Given the description of an element on the screen output the (x, y) to click on. 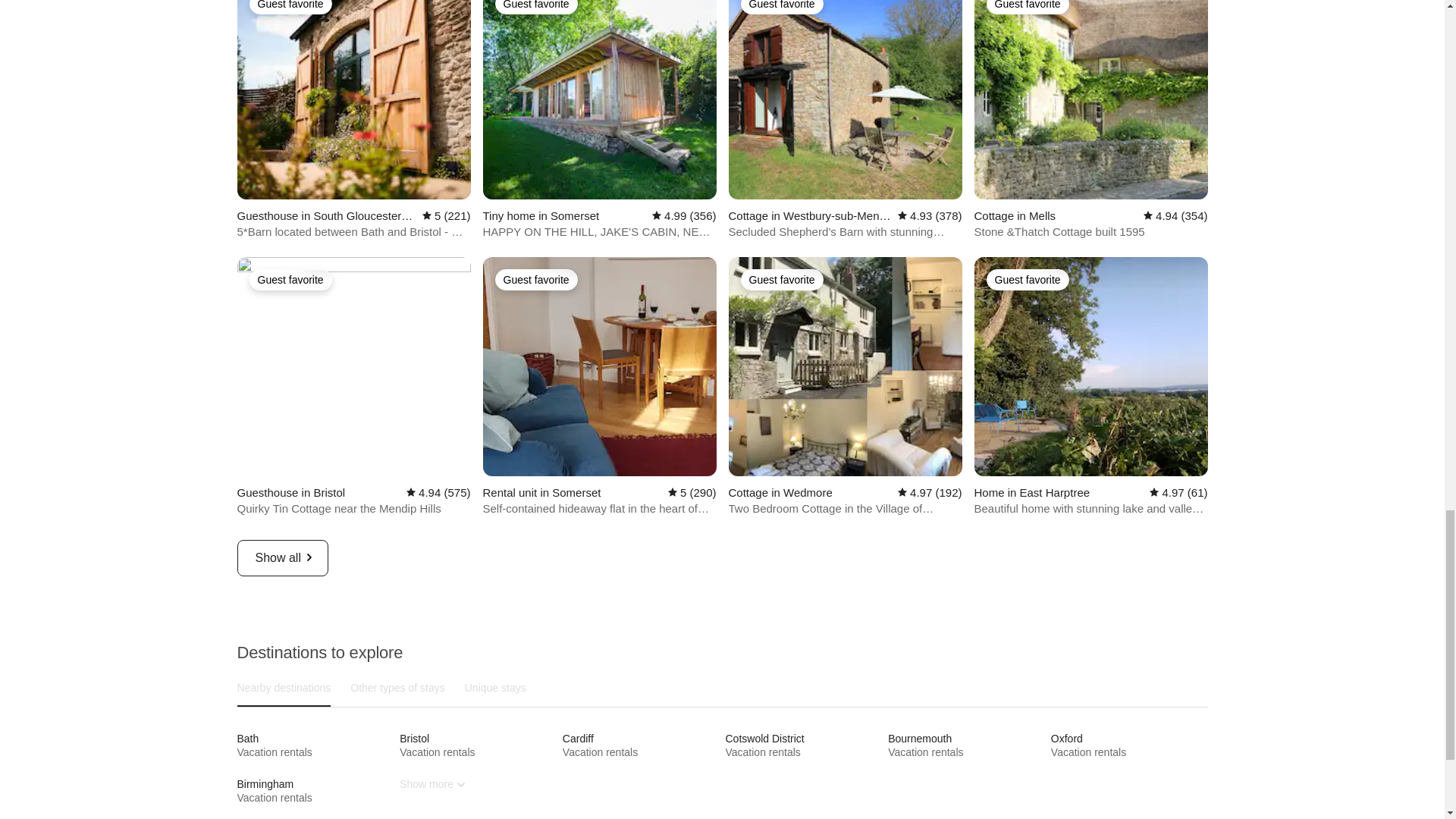
Show all (281, 557)
Unique stays (495, 687)
Other types of stays (397, 687)
Nearby destinations (282, 687)
